Given the description of an element on the screen output the (x, y) to click on. 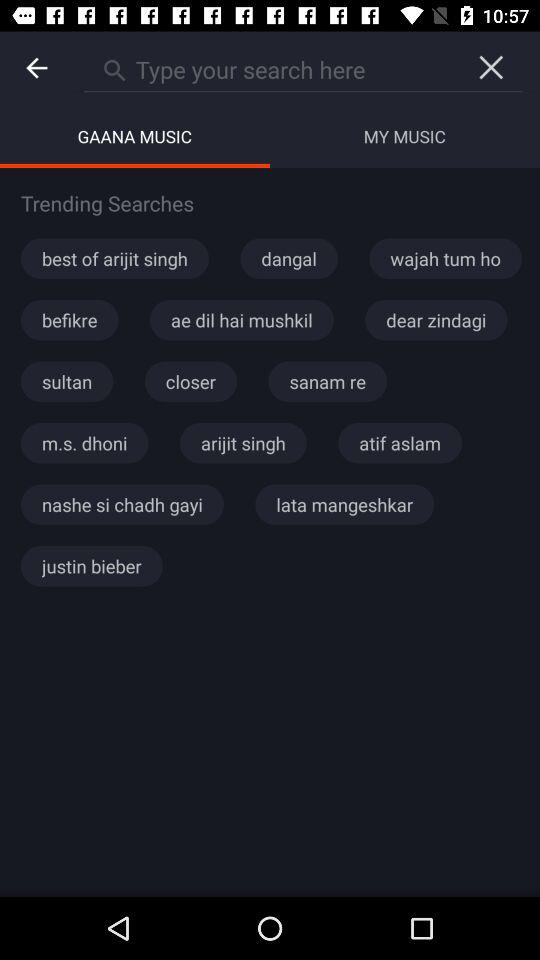
launch the item to the left of the arijit singh item (84, 443)
